Given the description of an element on the screen output the (x, y) to click on. 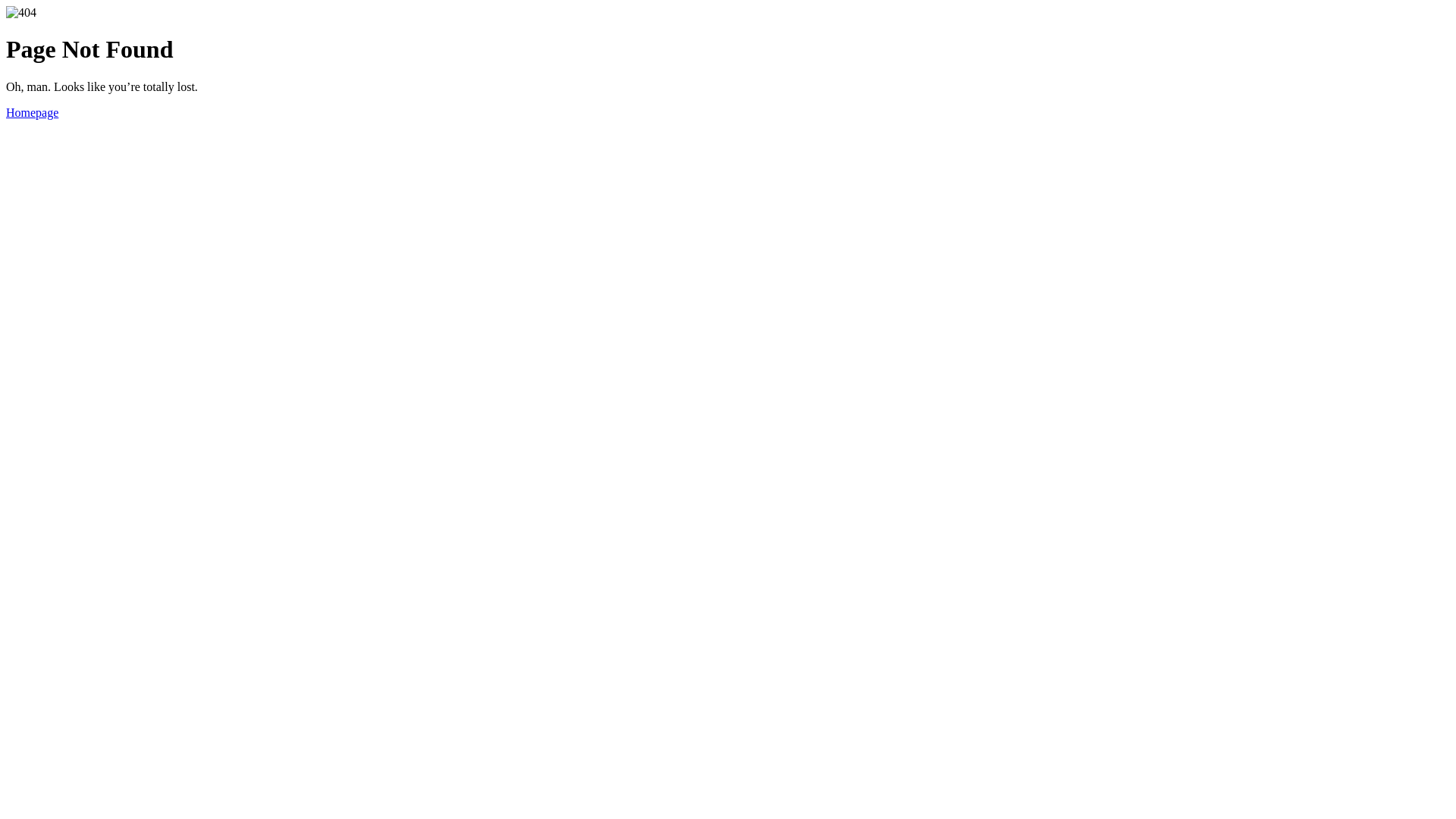
Homepage Element type: text (32, 112)
